Given the description of an element on the screen output the (x, y) to click on. 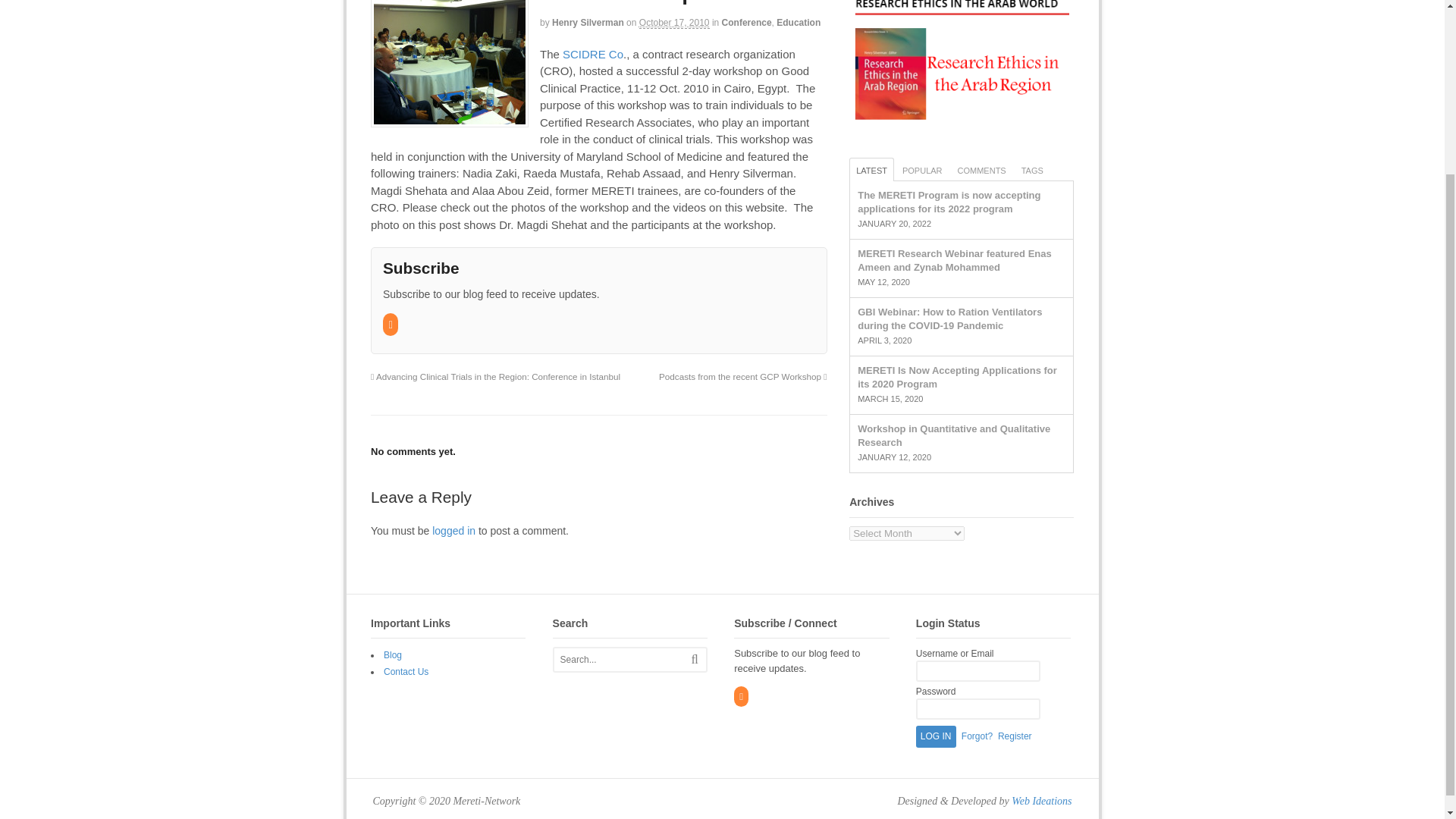
log in (935, 735)
Henry Silverman (587, 22)
RSS (391, 324)
logged in (454, 530)
MERETI Is Now Accepting Applications for its 2020 Program (957, 376)
Podcasts from the recent GCP Workshop (743, 376)
Search... (624, 659)
POPULAR (922, 169)
SCIDRE Co (592, 53)
Conference (746, 22)
LATEST (870, 169)
